Given the description of an element on the screen output the (x, y) to click on. 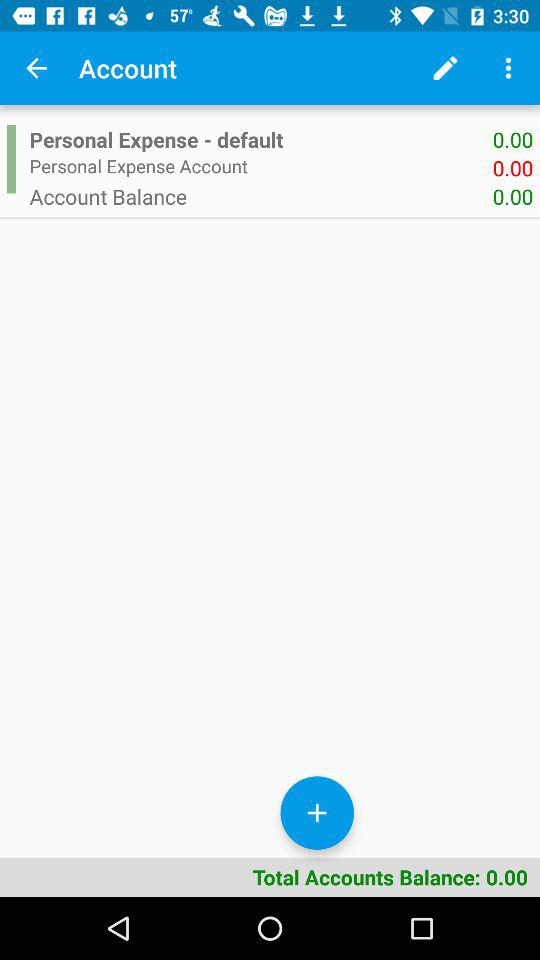
click item below the 0.00 (260, 196)
